Given the description of an element on the screen output the (x, y) to click on. 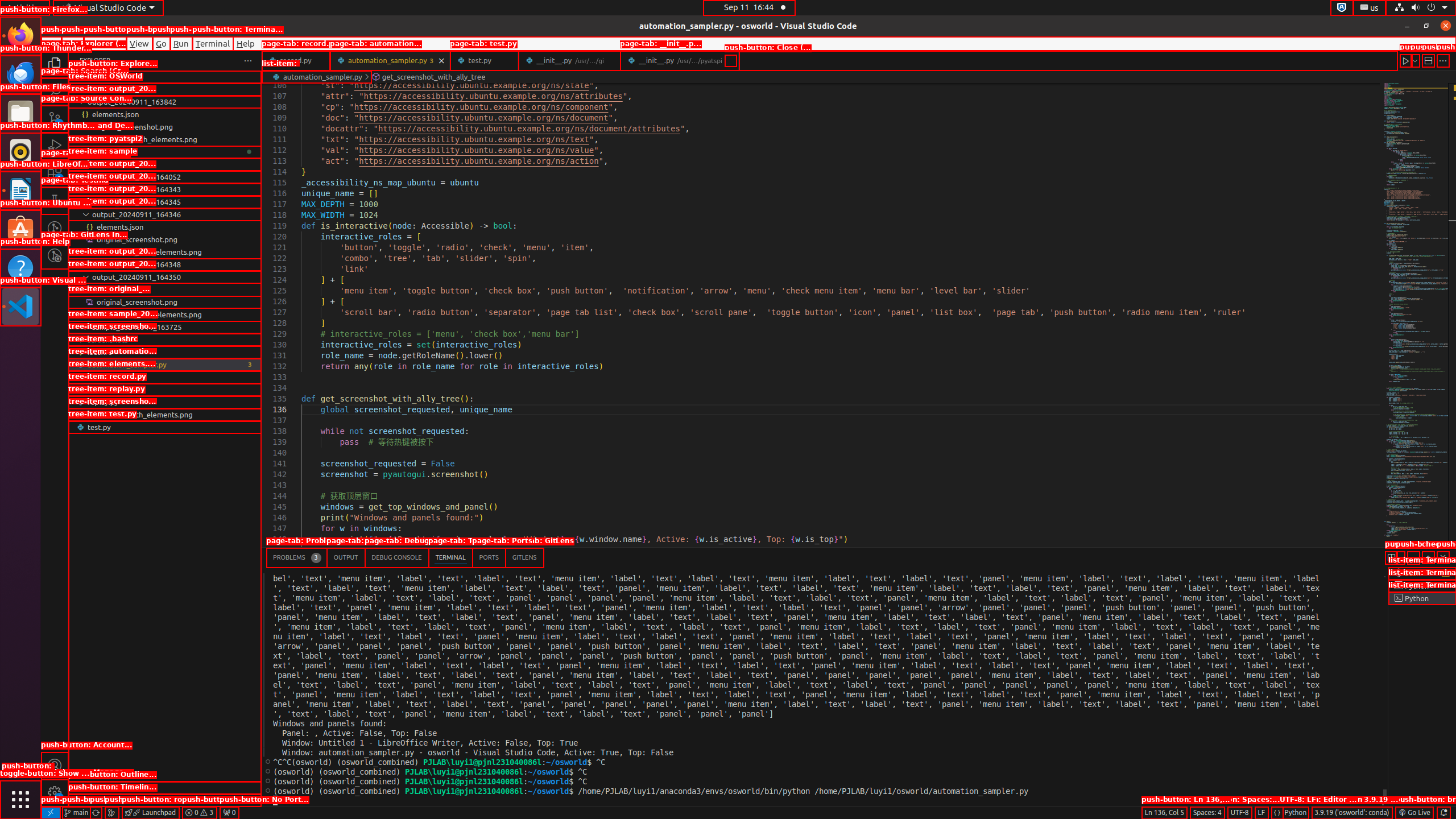
Python Element type: push-button (1295, 812)
.bashrc Element type: tree-item (164, 351)
LF Element type: push-button (1261, 812)
sample_20240911_163725 Element type: tree-item (164, 326)
Source Control (Ctrl+Shift+G G) - 1 pending changes Element type: page-tab (54, 118)
